Given the description of an element on the screen output the (x, y) to click on. 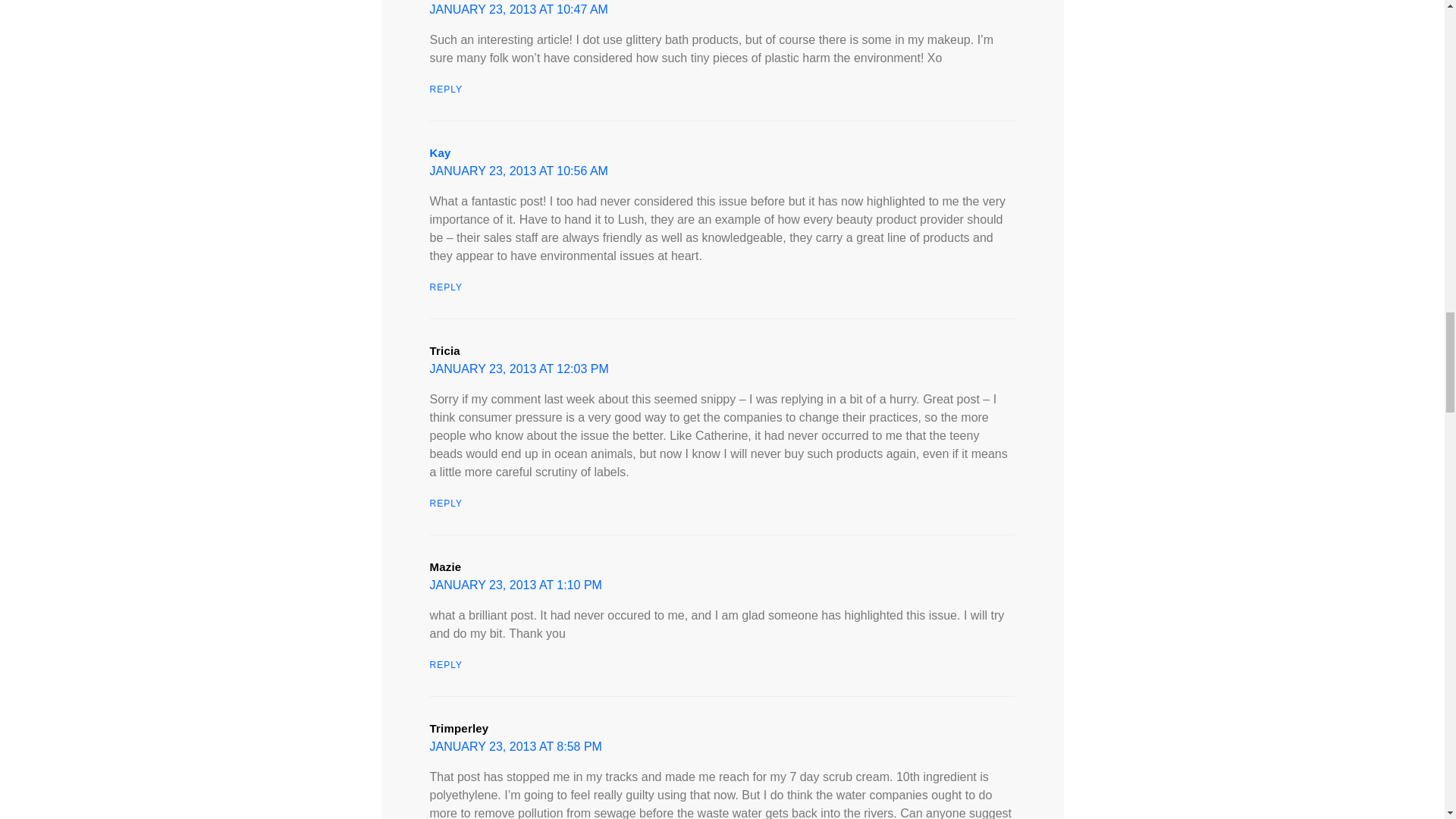
Kay (439, 151)
REPLY (445, 88)
REPLY (445, 286)
JANUARY 23, 2013 AT 10:47 AM (518, 9)
JANUARY 23, 2013 AT 12:03 PM (518, 368)
JANUARY 23, 2013 AT 10:56 AM (518, 169)
REPLY (445, 502)
